Given the description of an element on the screen output the (x, y) to click on. 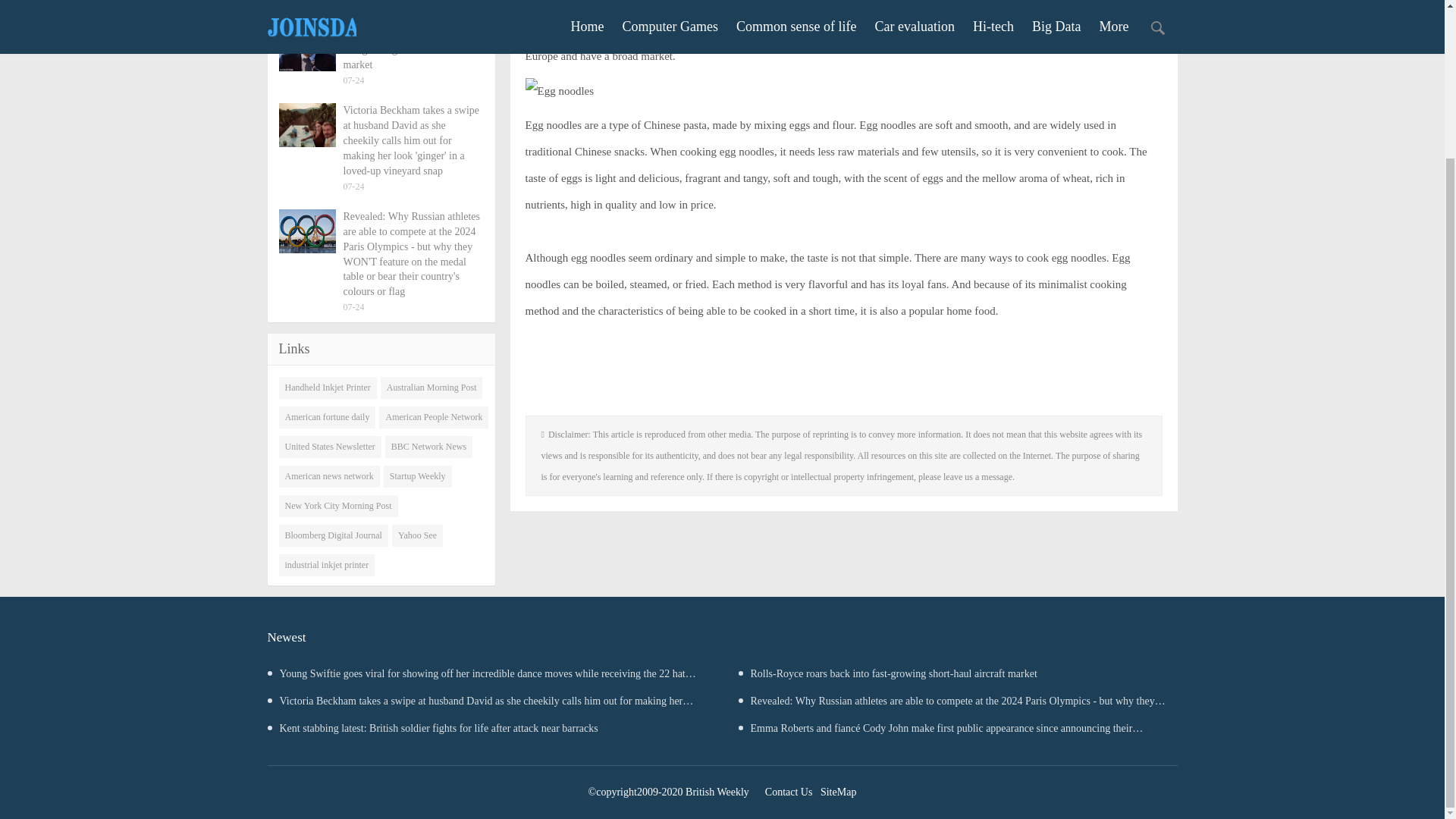
BBC Network News (428, 446)
Yahoo See (416, 535)
American People Network (432, 417)
Handheld Inkjet Printer (328, 387)
United States Newsletter (330, 446)
New York City Morning Post (338, 505)
American fortune daily (327, 417)
Australian Morning Post (431, 387)
Bloomberg Digital Journal (333, 535)
Chinese egg noodles (1009, 29)
American news network (329, 476)
